Given the description of an element on the screen output the (x, y) to click on. 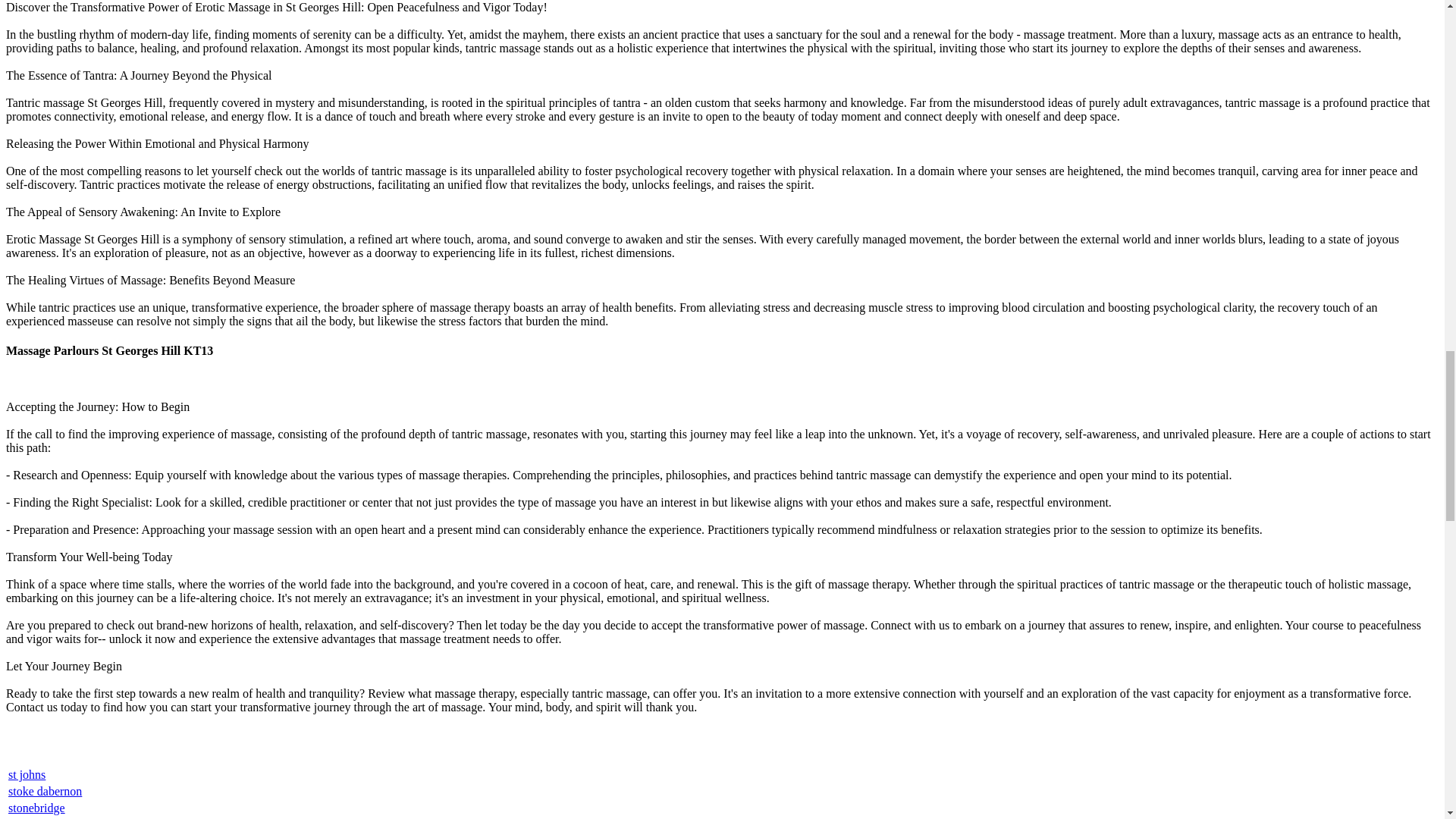
st johns (26, 774)
stonehill (28, 818)
stonebridge (36, 807)
stoke dabernon (44, 790)
